Given the description of an element on the screen output the (x, y) to click on. 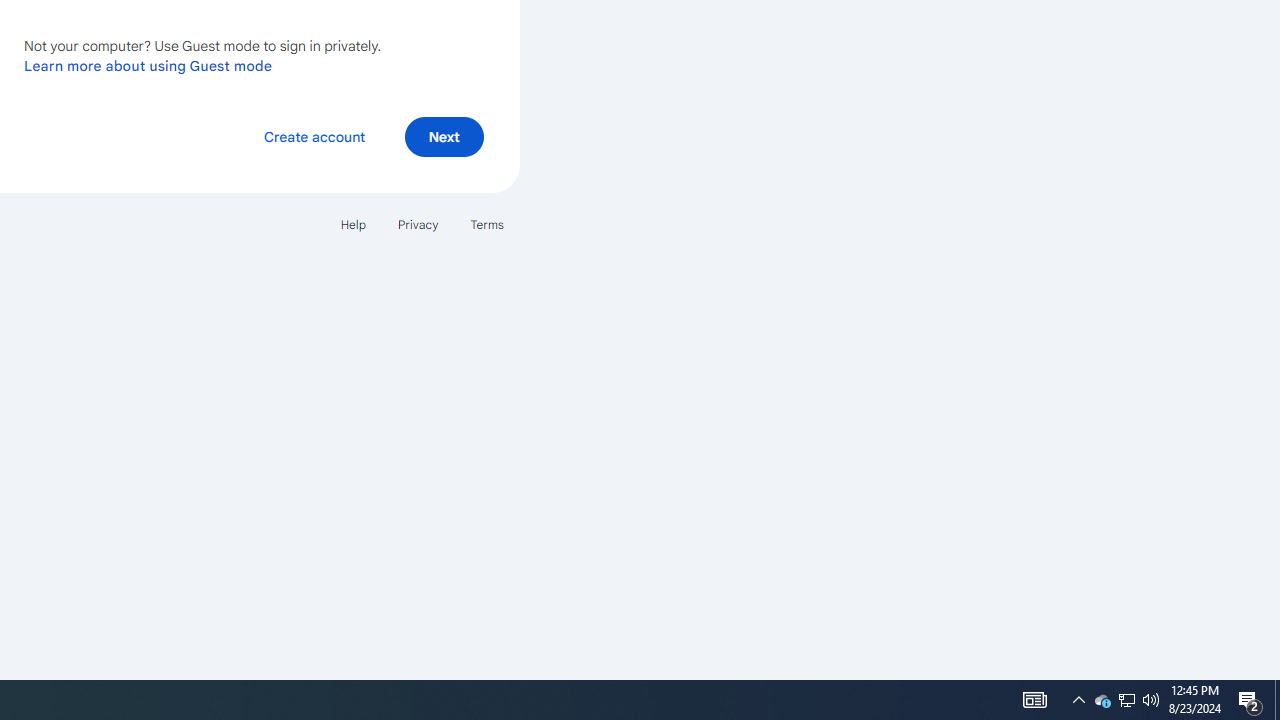
Learn more about using Guest mode (148, 65)
Create account (314, 135)
Next (443, 135)
Terms (486, 224)
Help (352, 224)
Privacy (417, 224)
